Given the description of an element on the screen output the (x, y) to click on. 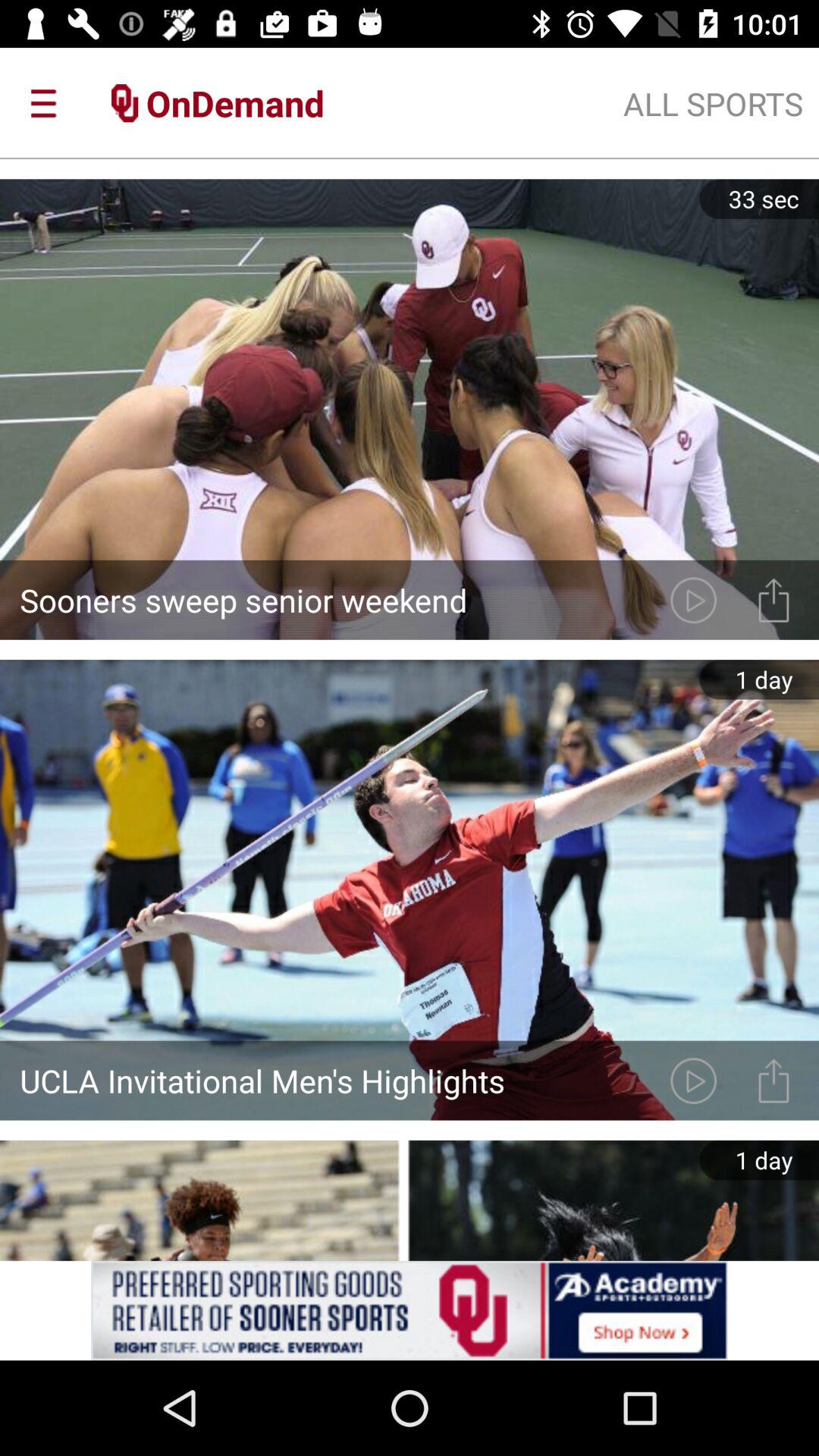
switch uploading option (773, 1080)
